Given the description of an element on the screen output the (x, y) to click on. 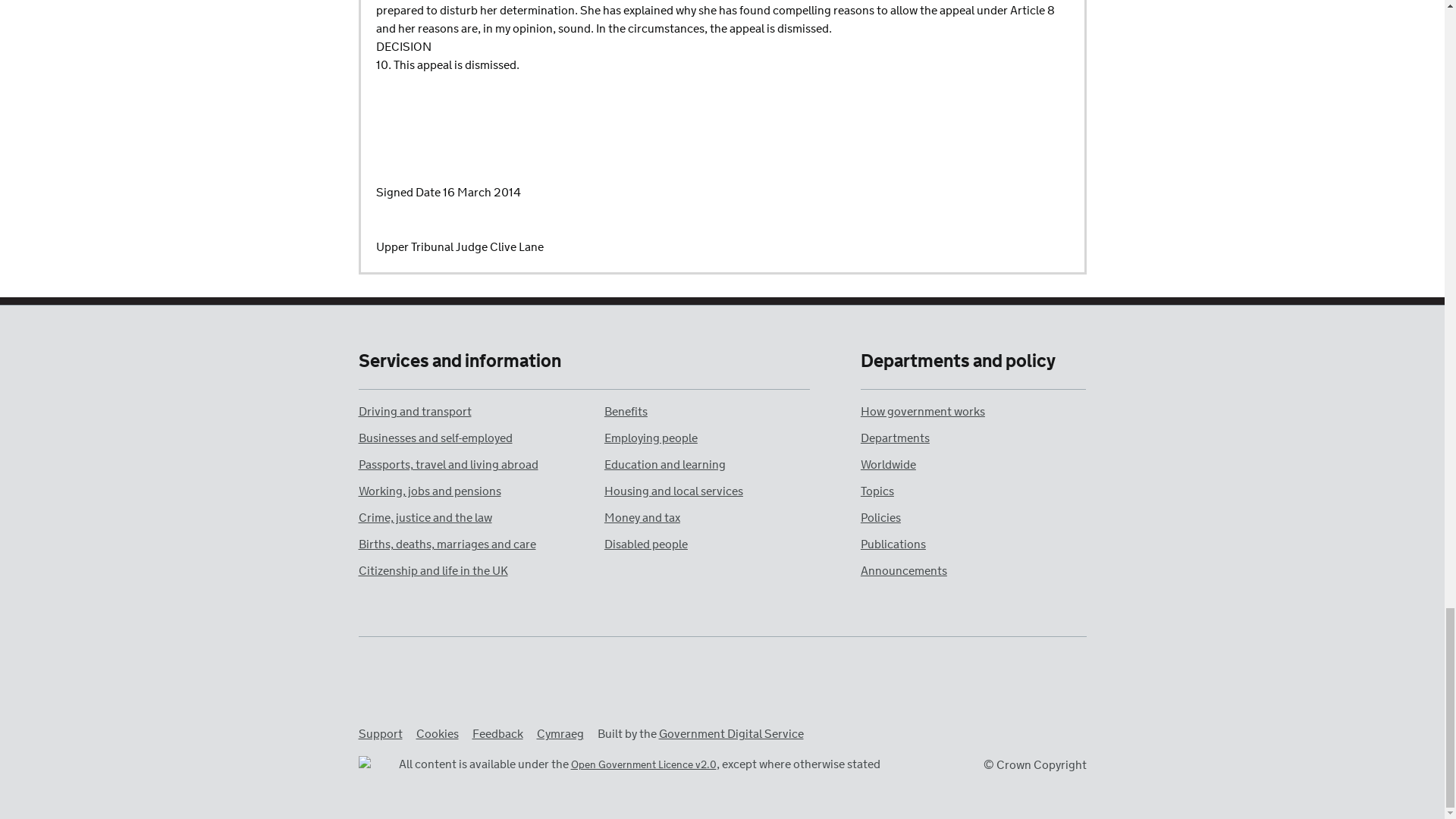
Births, deaths, marriages and care (446, 544)
Crime, justice and the law (425, 518)
Citizenship and life in the UK (432, 571)
Support (379, 734)
Housing and local services (673, 491)
Announcements (903, 571)
Worldwide (887, 465)
Businesses and self-employed (435, 438)
Publications (893, 544)
Driving and transport (414, 412)
